Given the description of an element on the screen output the (x, y) to click on. 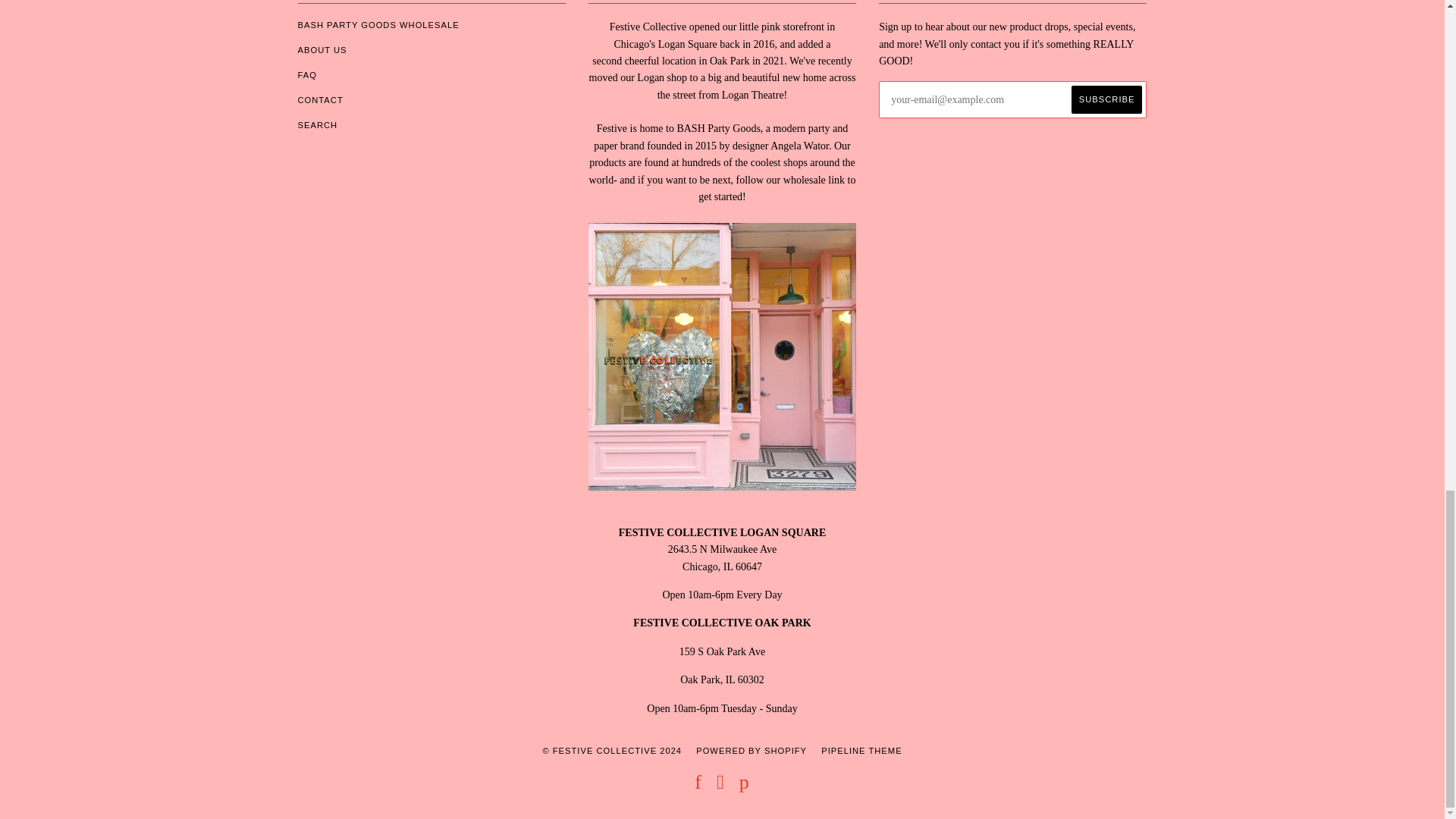
Festive Collective on Instagram (720, 785)
Festive Collective on Facebook (697, 785)
Subscribe (1106, 99)
Festive Collective on Pinterest (744, 785)
